Given the description of an element on the screen output the (x, y) to click on. 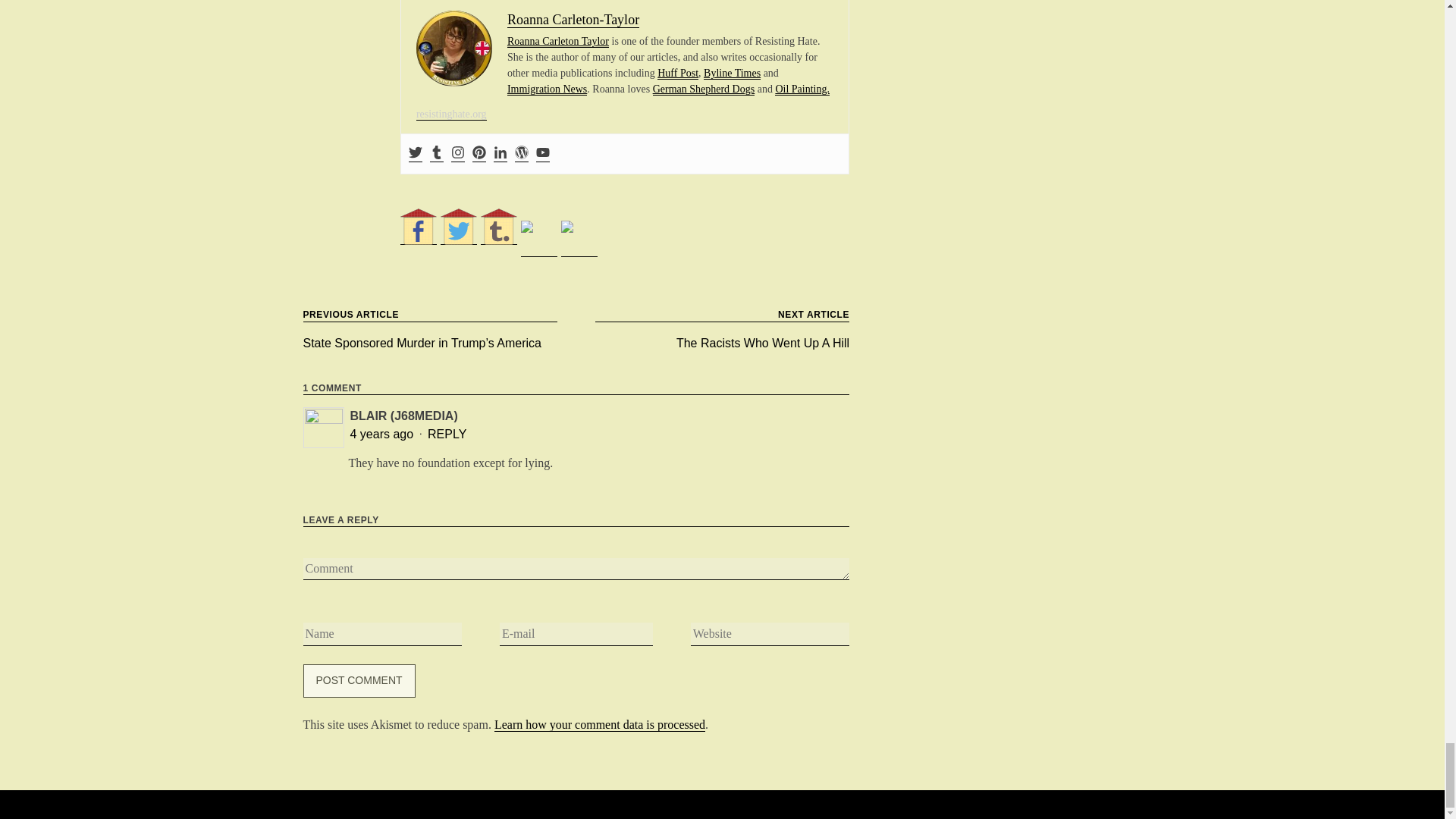
Post Comment (358, 680)
